Given the description of an element on the screen output the (x, y) to click on. 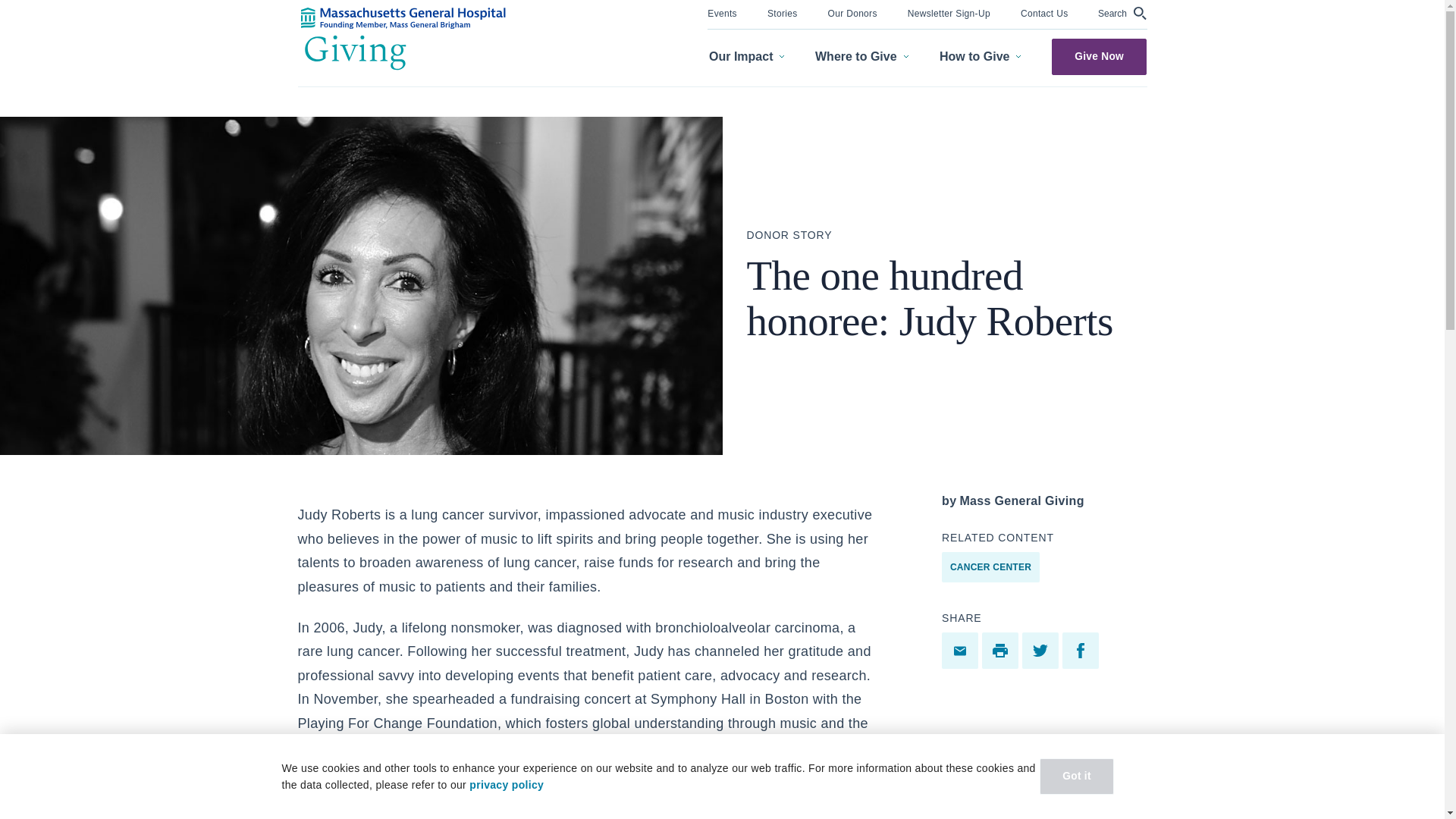
Newsletter Sign-Up (948, 11)
Where to Give (861, 56)
Give Now (1099, 56)
How to Give (980, 56)
CANCER CENTER (990, 567)
Contact Us (1044, 11)
Search (1122, 12)
Stories (782, 11)
Events (721, 11)
Our Donors (852, 11)
Our Impact (746, 56)
